Given the description of an element on the screen output the (x, y) to click on. 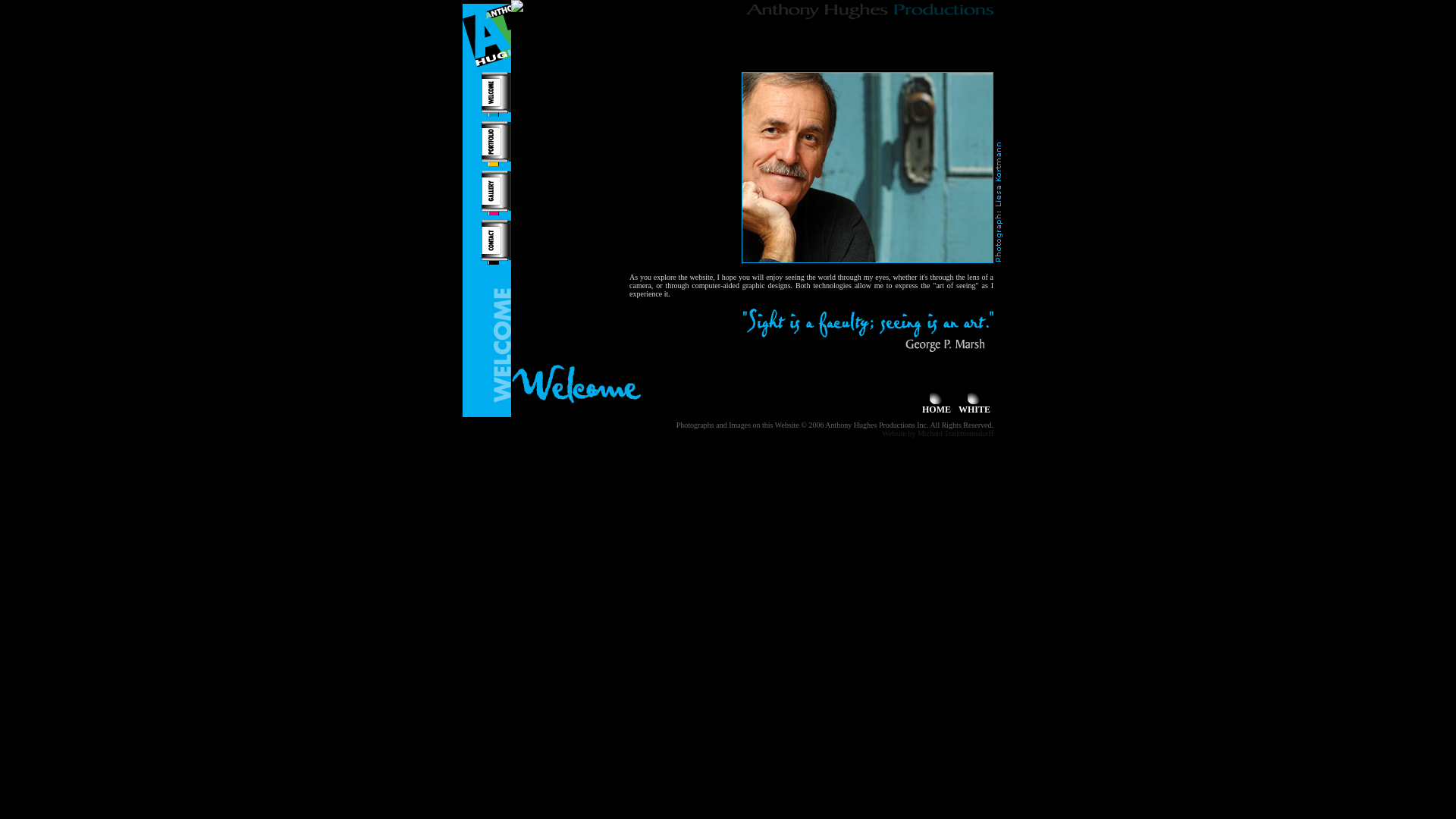
HOME Element type: text (936, 404)
Michael Trauttmansdorff Element type: text (955, 433)
WHITE Element type: text (974, 404)
